Given the description of an element on the screen output the (x, y) to click on. 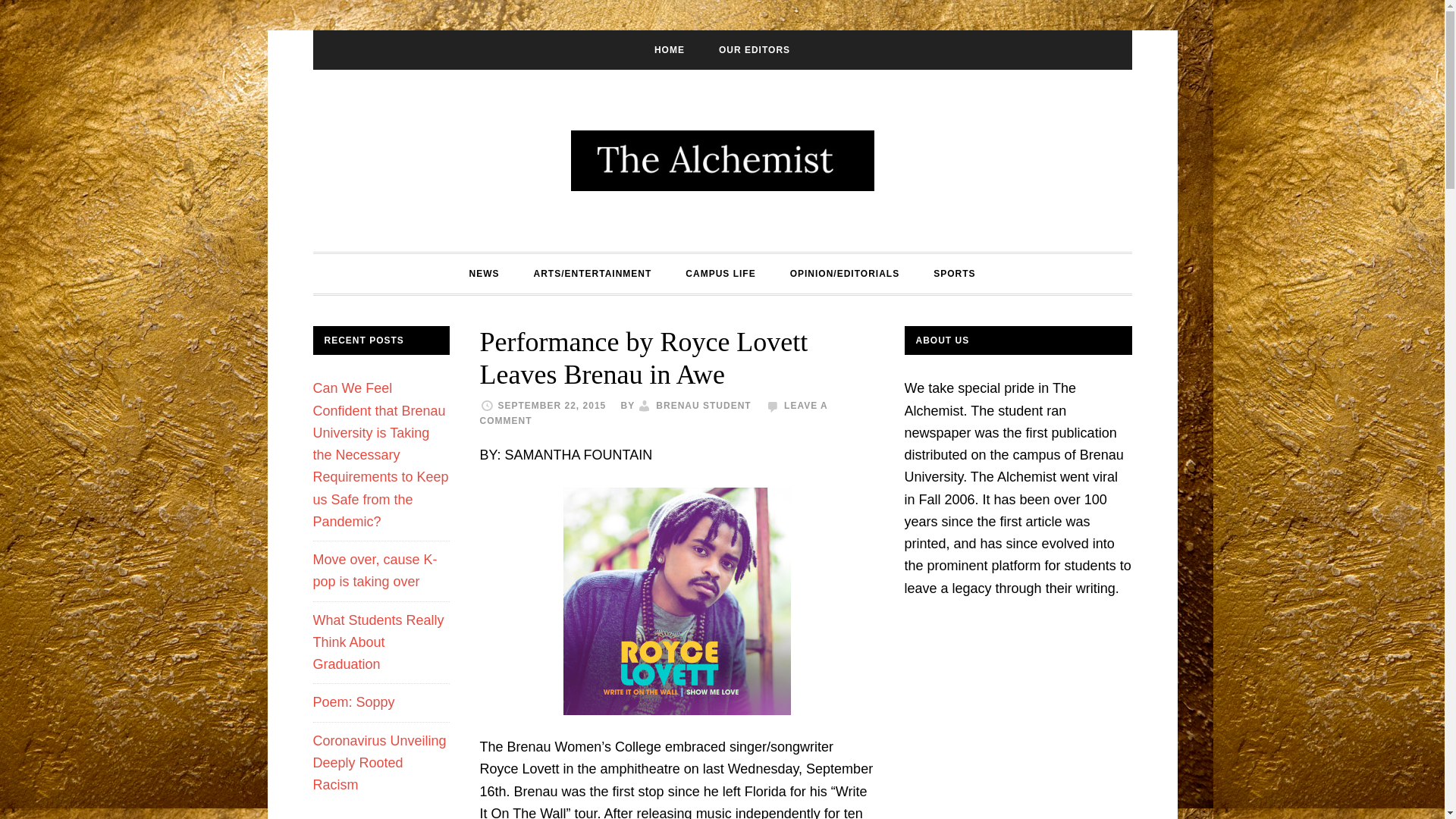
Move over, cause K-pop is taking over (374, 570)
CAMPUS LIFE (719, 273)
Brenau Sports (954, 273)
BRENAU STUDENT (703, 405)
Arts and Entertainment (592, 273)
What Students Really Think About Graduation (378, 642)
THE ALCHEMIST (721, 160)
Poem: Soppy (353, 702)
News (482, 273)
